Given the description of an element on the screen output the (x, y) to click on. 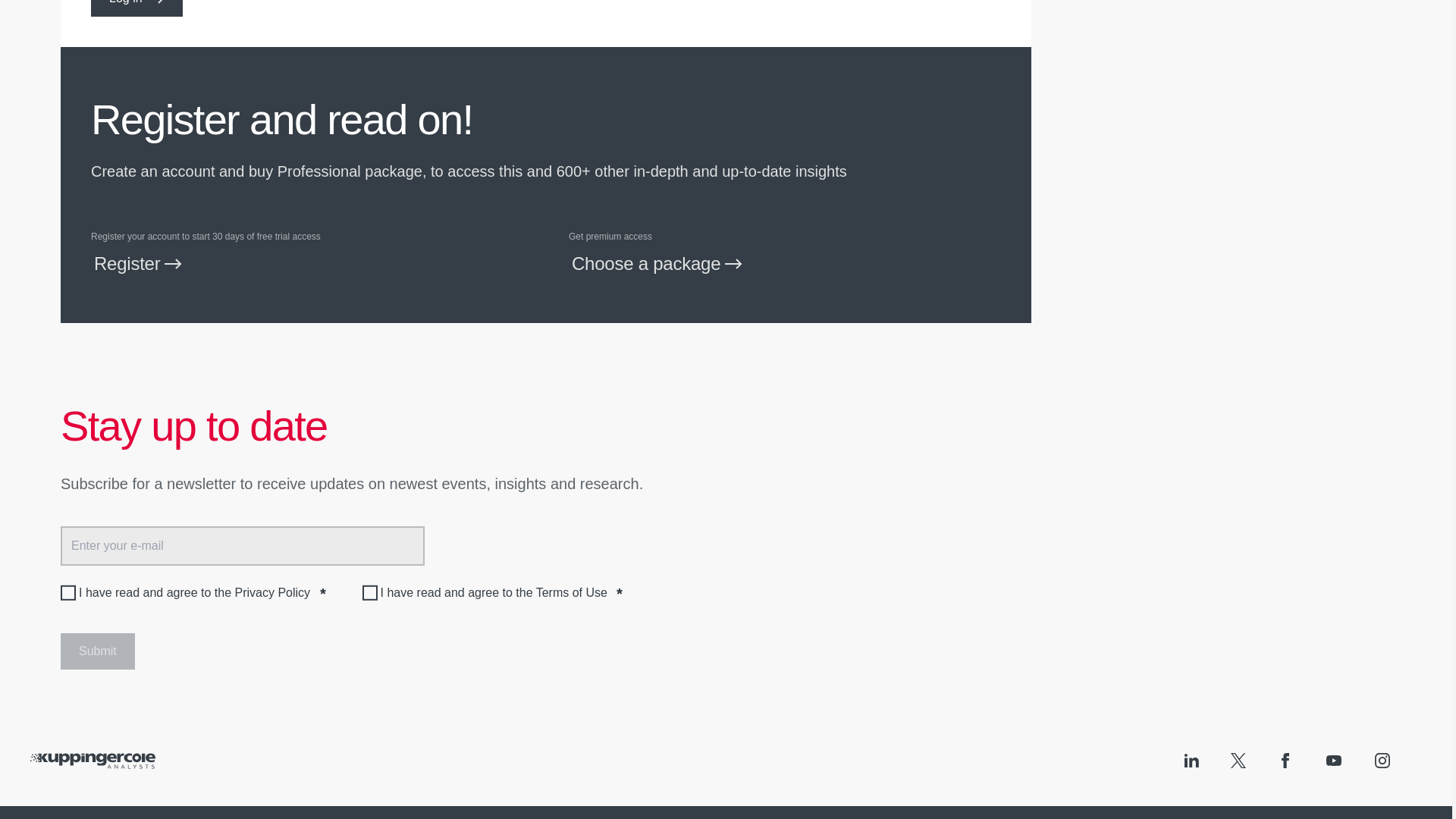
on (369, 592)
on (68, 592)
